Given the description of an element on the screen output the (x, y) to click on. 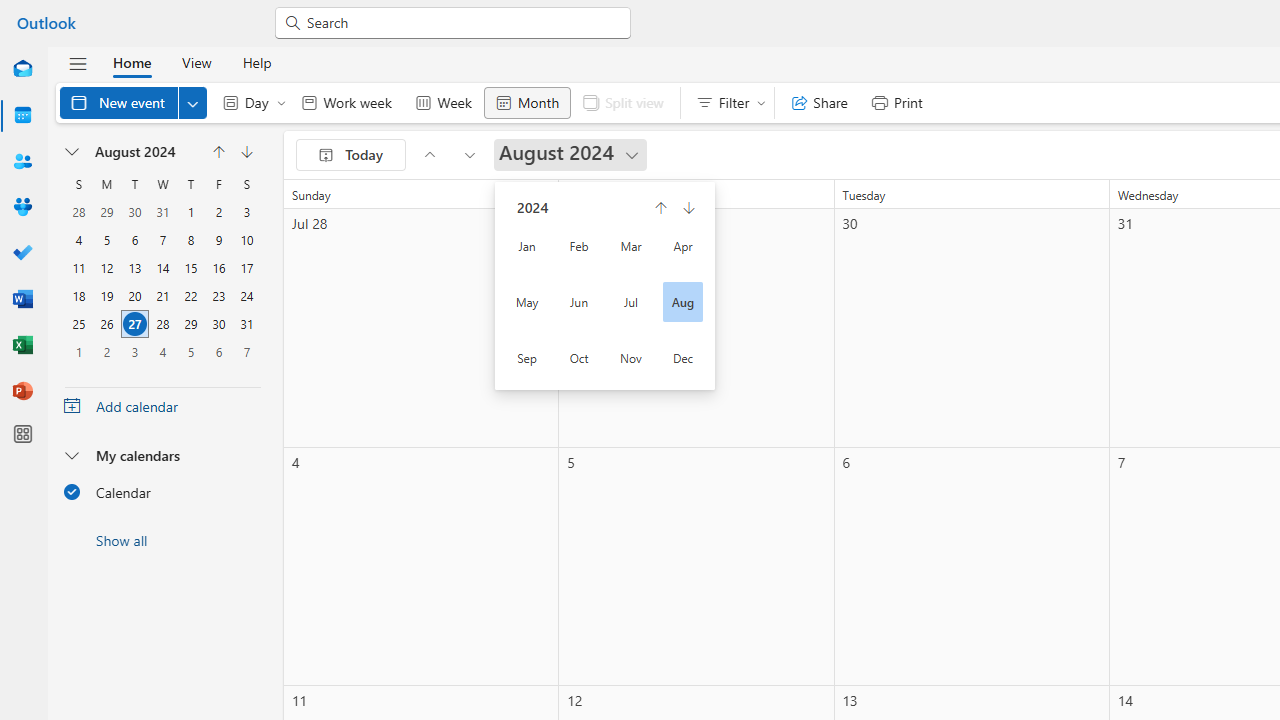
1, September, 2024 (79, 351)
9, August, 2024 (218, 240)
17, August, 2024 (246, 268)
PowerPoint (22, 391)
23, August, 2024 (218, 296)
Mail (22, 69)
Expand to see more Day options (281, 102)
10, August, 2024 (246, 239)
6, September, 2024 (218, 351)
6, September, 2024 (218, 351)
Thursday (190, 183)
18, August, 2024 (79, 296)
Word (22, 299)
New event (133, 102)
10, August, 2024 (246, 240)
